Given the description of an element on the screen output the (x, y) to click on. 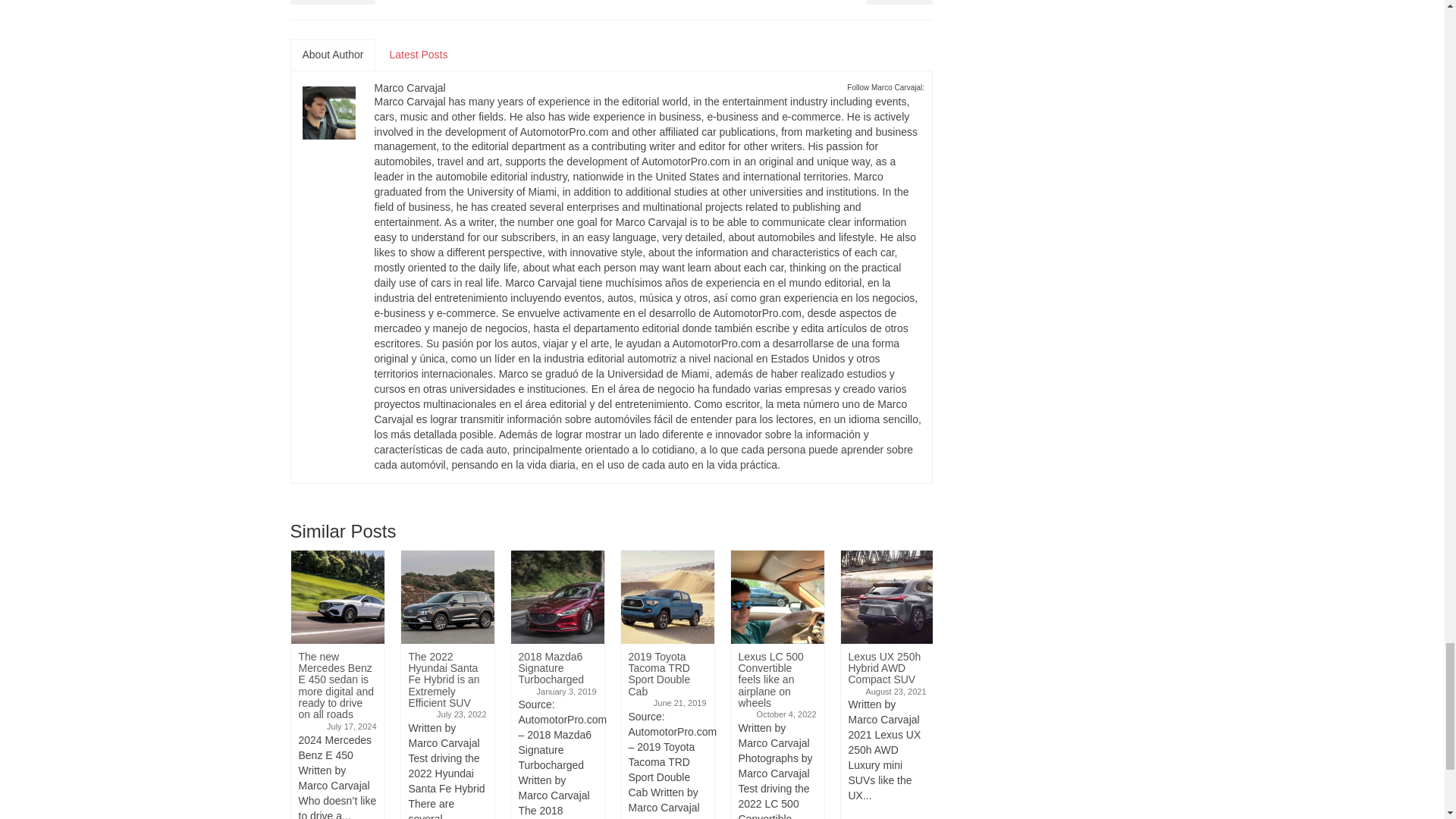
Posts by Marco Carvajal (409, 87)
2018 Mazda6 Signature Turbocharged (557, 596)
